Given the description of an element on the screen output the (x, y) to click on. 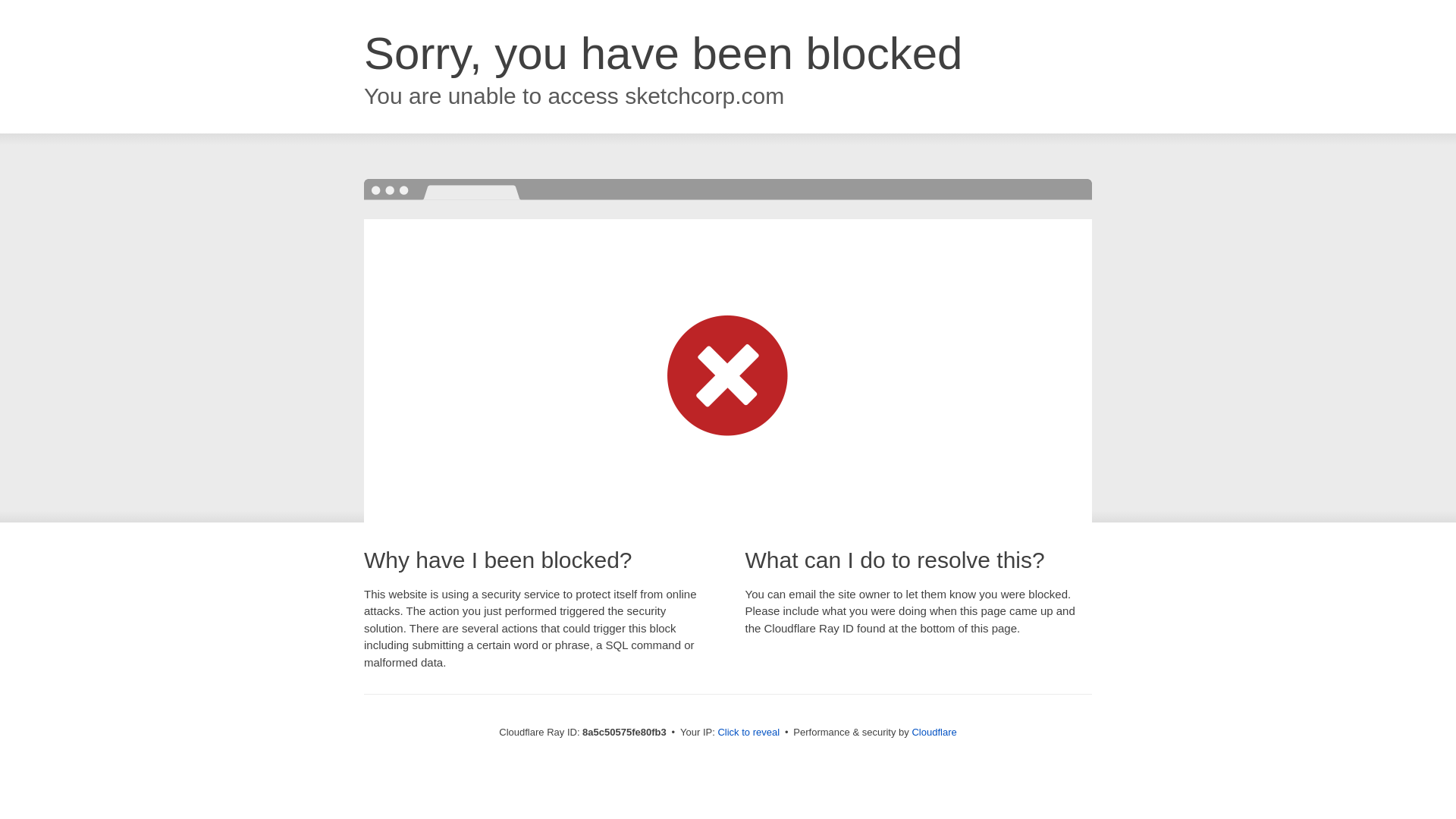
Cloudflare (933, 731)
Click to reveal (747, 732)
